Given the description of an element on the screen output the (x, y) to click on. 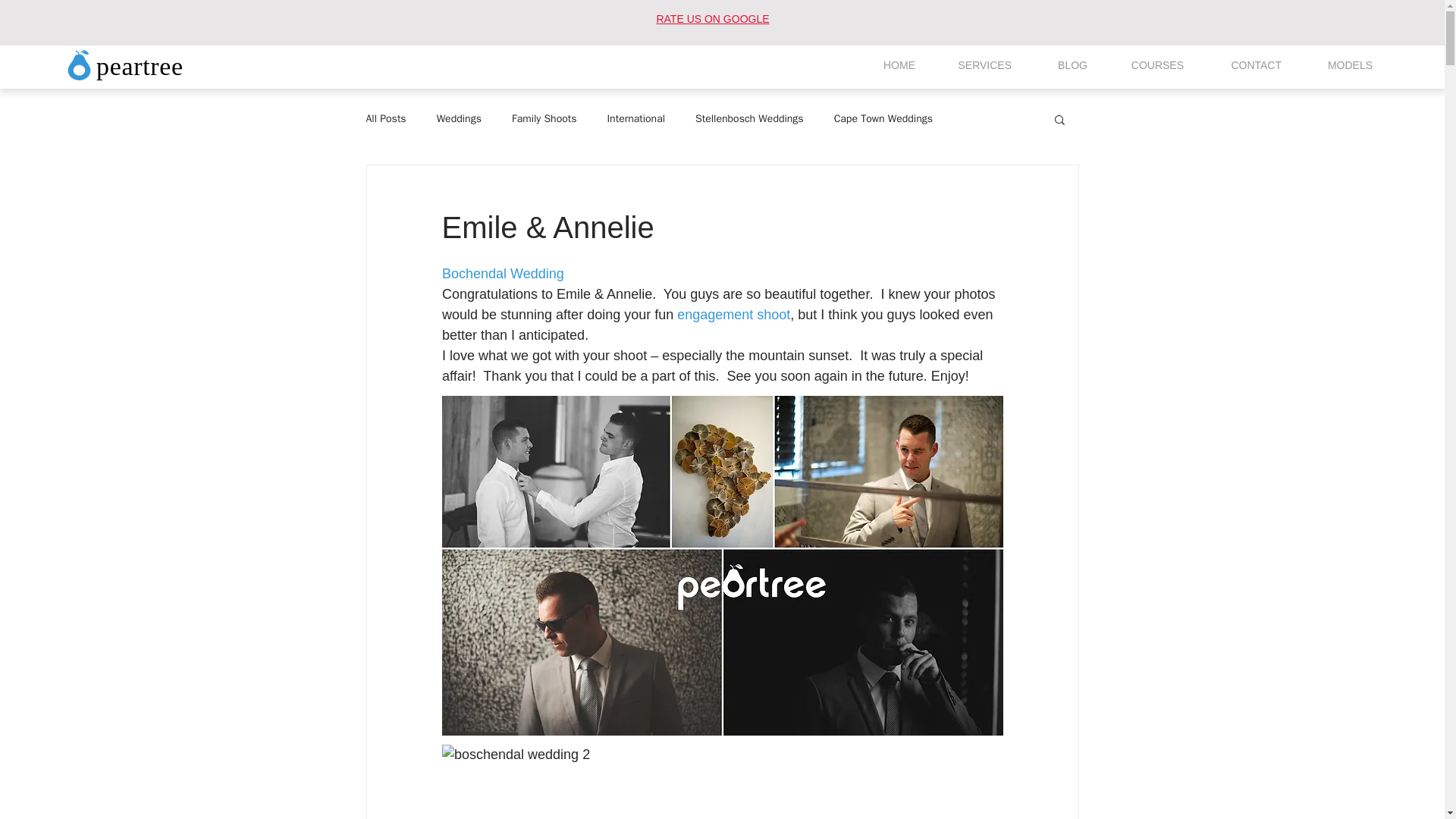
Bochendal Wedding (502, 273)
HOME (886, 64)
peartree (139, 65)
engagement shoot (733, 314)
SERVICES (974, 64)
International (636, 119)
MODELS (1338, 64)
Family Shoots (544, 119)
BLOG (1061, 64)
Stellenbosch Weddings (749, 119)
Weddings (458, 119)
RATE US ON GOOGLE (712, 19)
CONTACT (1243, 64)
All Posts (385, 119)
COURSES (1147, 64)
